Given the description of an element on the screen output the (x, y) to click on. 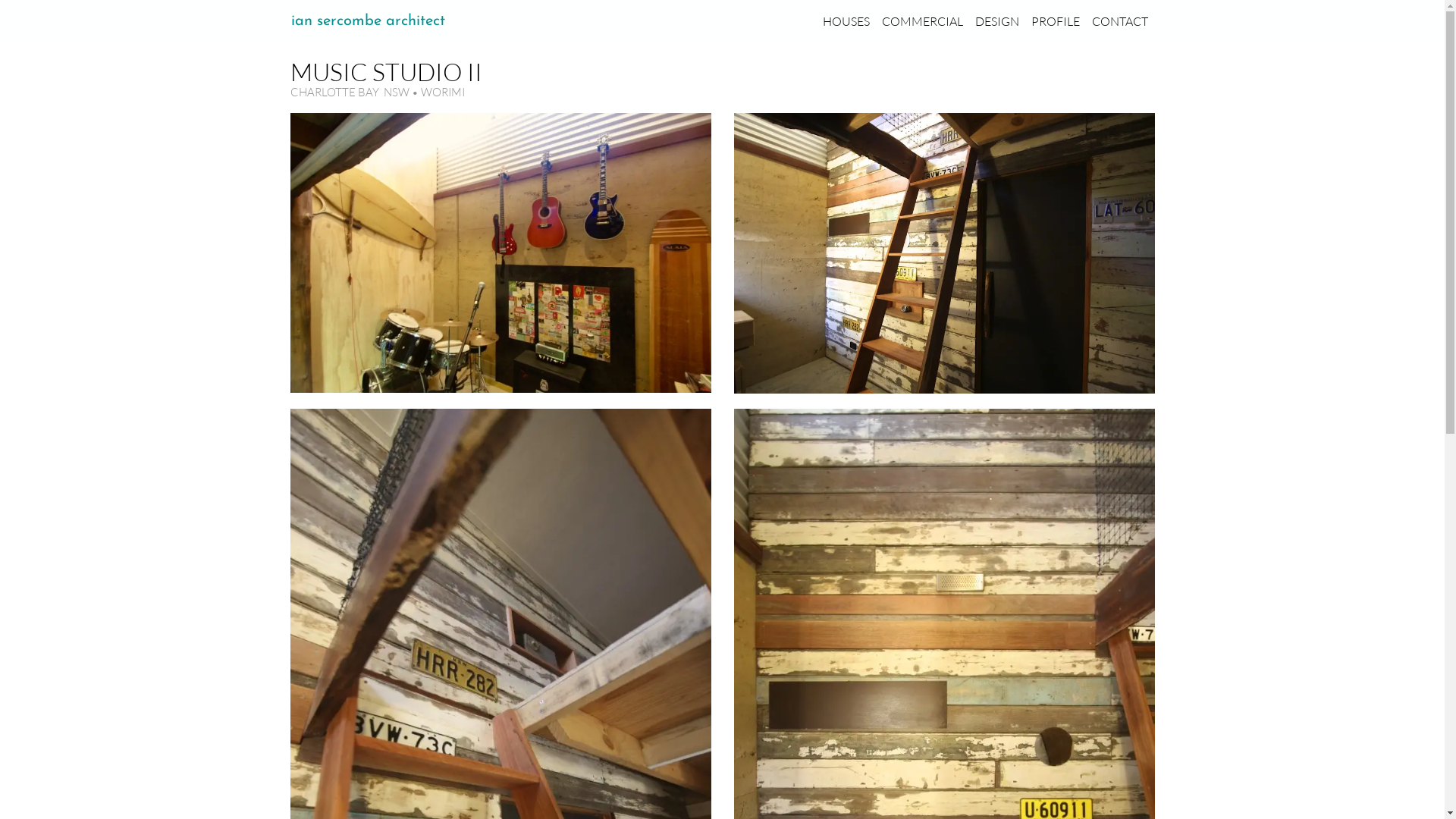
CONTACT Element type: text (1119, 21)
COMMERCIAL Element type: text (921, 21)
DESIGN Element type: text (997, 21)
HOUSES Element type: text (845, 21)
ian sercombe architect Element type: text (368, 21)
PROFILE Element type: text (1055, 21)
